Given the description of an element on the screen output the (x, y) to click on. 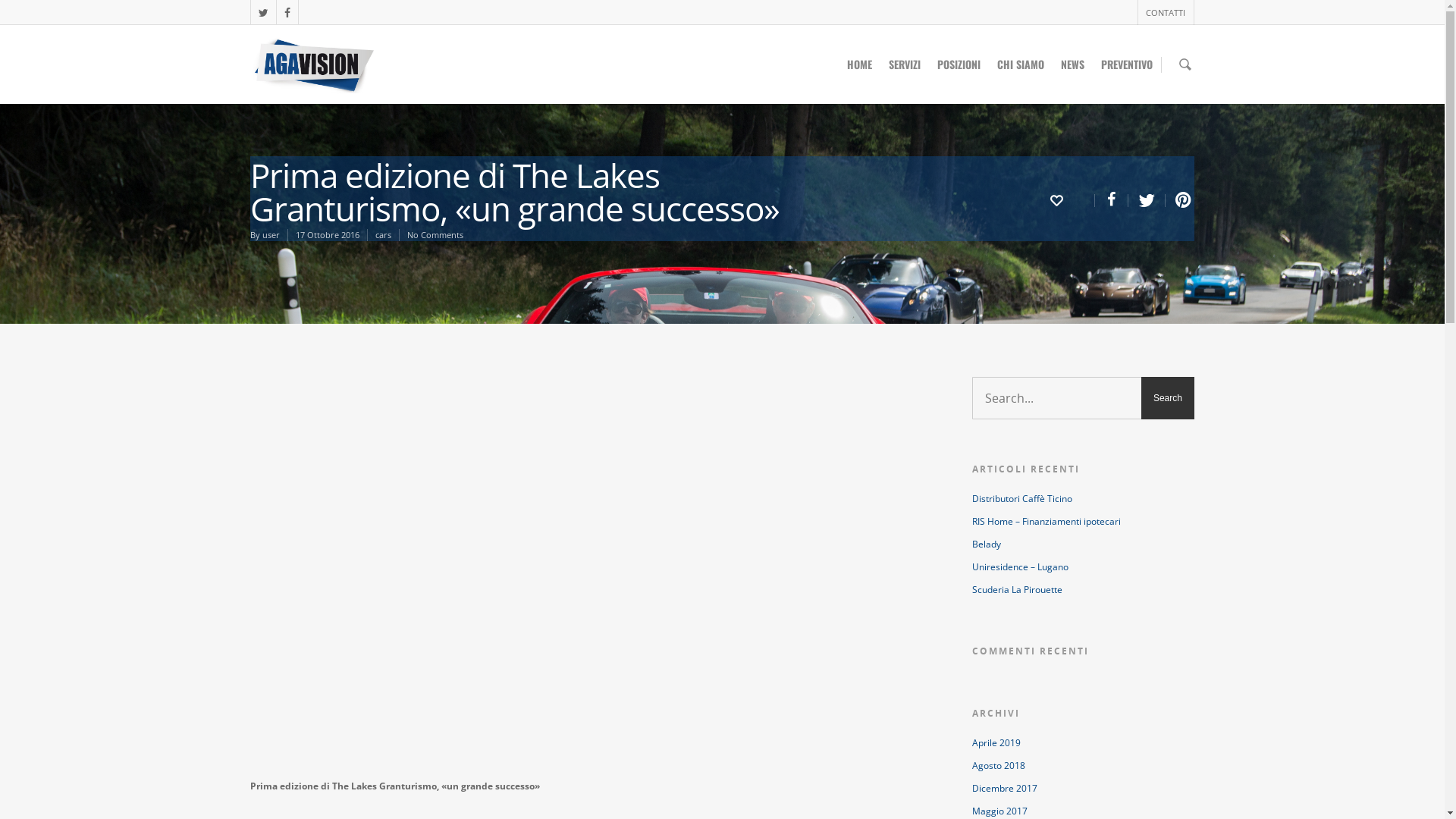
POSIZIONI Element type: text (958, 69)
Belady Element type: text (1083, 544)
Pin this Element type: hover (1179, 200)
Dicembre 2017 Element type: text (1083, 788)
cars Element type: text (383, 234)
CONTATTI Element type: text (1164, 12)
Search for: Element type: hover (1083, 397)
HOME Element type: text (859, 69)
CHI SIAMO Element type: text (1020, 69)
SERVIZI Element type: text (904, 69)
Search Element type: text (1167, 397)
user Element type: text (270, 234)
Tweet this Element type: hover (1146, 200)
NEWS Element type: text (1072, 69)
Love this Element type: hover (1072, 198)
Aprile 2019 Element type: text (1083, 742)
Share this Element type: hover (1111, 200)
Agosto 2018 Element type: text (1083, 765)
PREVENTIVO Element type: text (1126, 69)
Scuderia La Pirouette Element type: text (1083, 589)
No Comments Element type: text (435, 234)
